Given the description of an element on the screen output the (x, y) to click on. 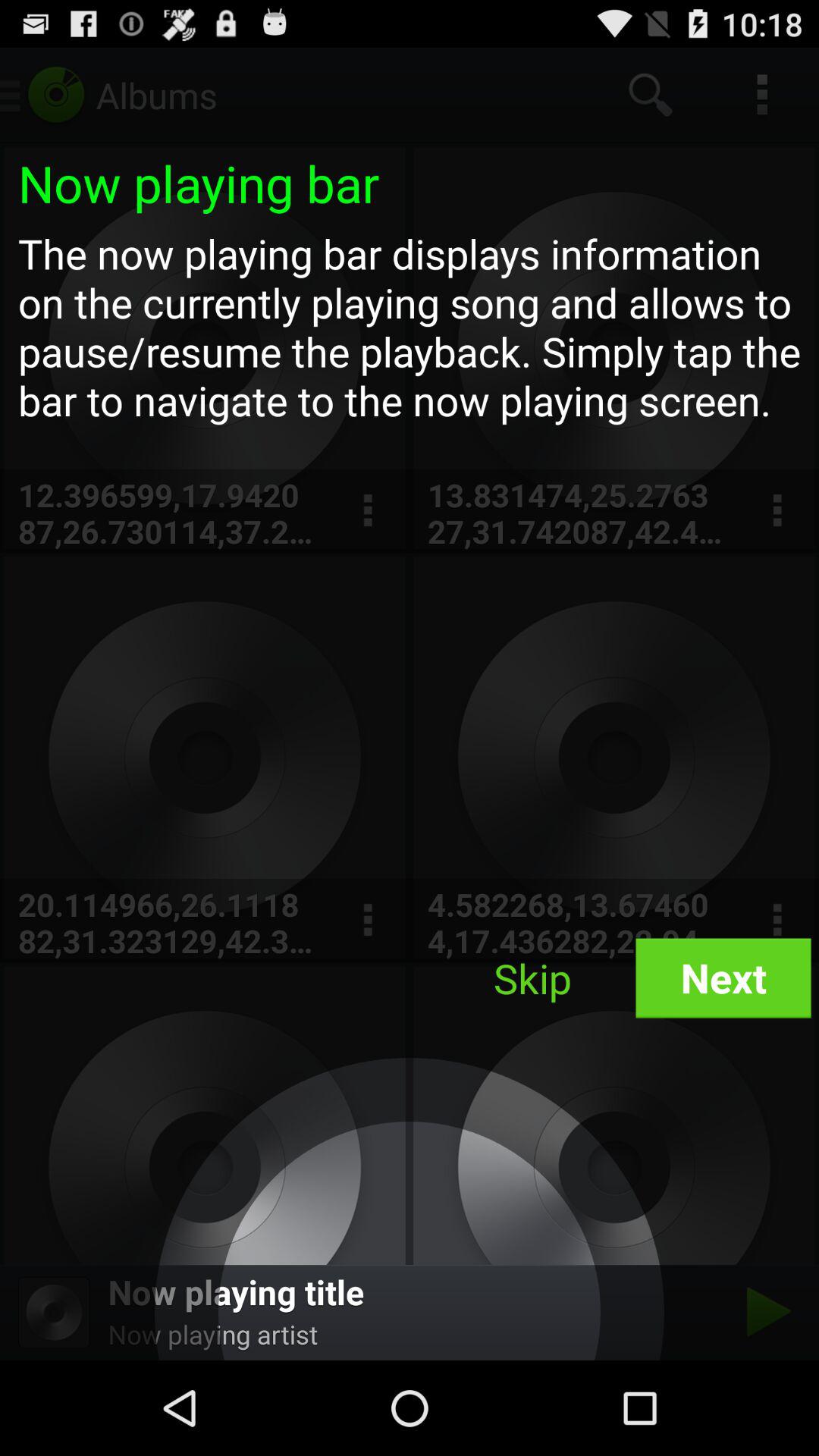
see options (777, 510)
